Given the description of an element on the screen output the (x, y) to click on. 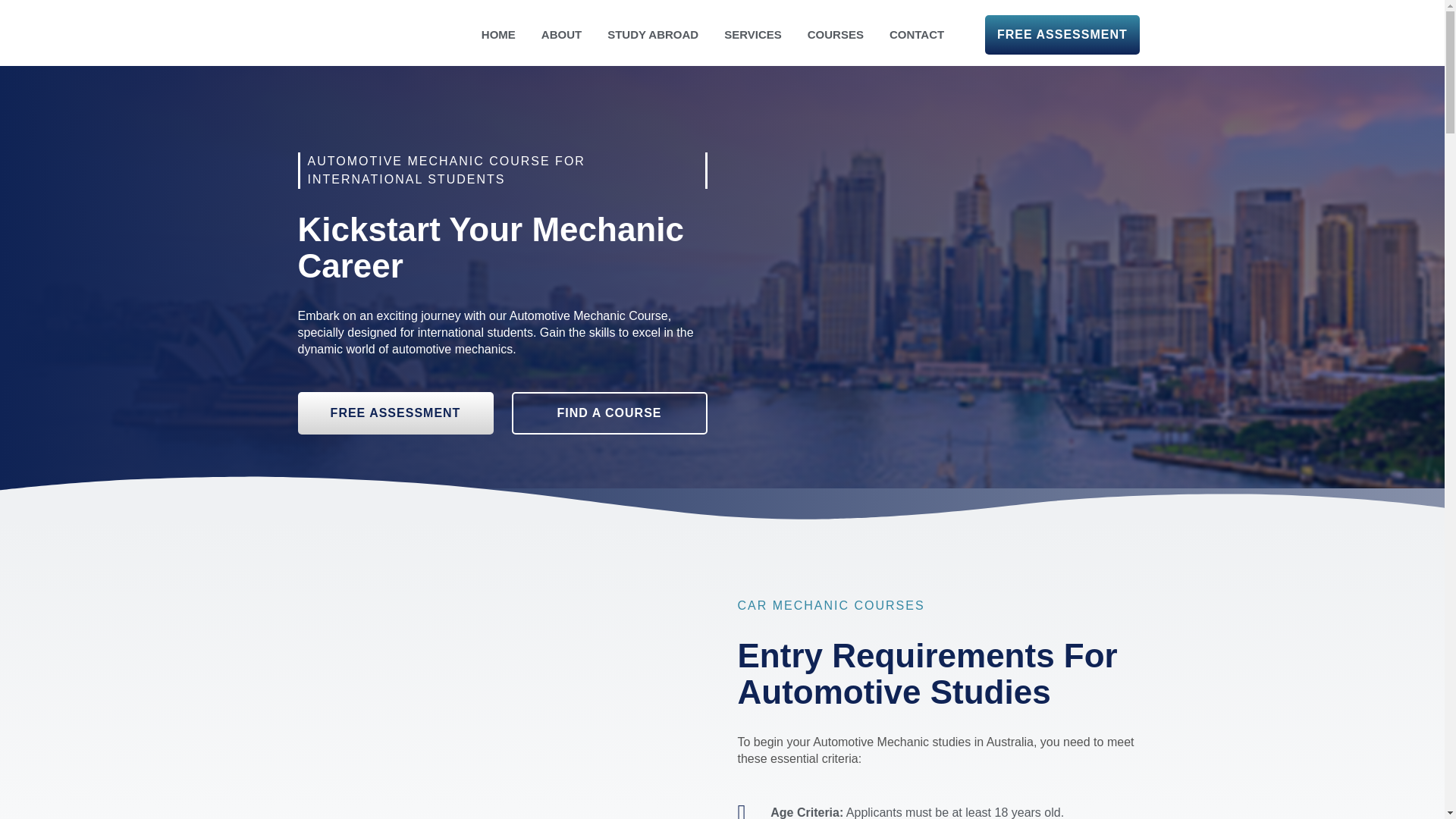
ABOUT (561, 34)
SERVICES (752, 34)
STUDY ABROAD (652, 34)
HOME (498, 34)
COURSES (835, 34)
